Given the description of an element on the screen output the (x, y) to click on. 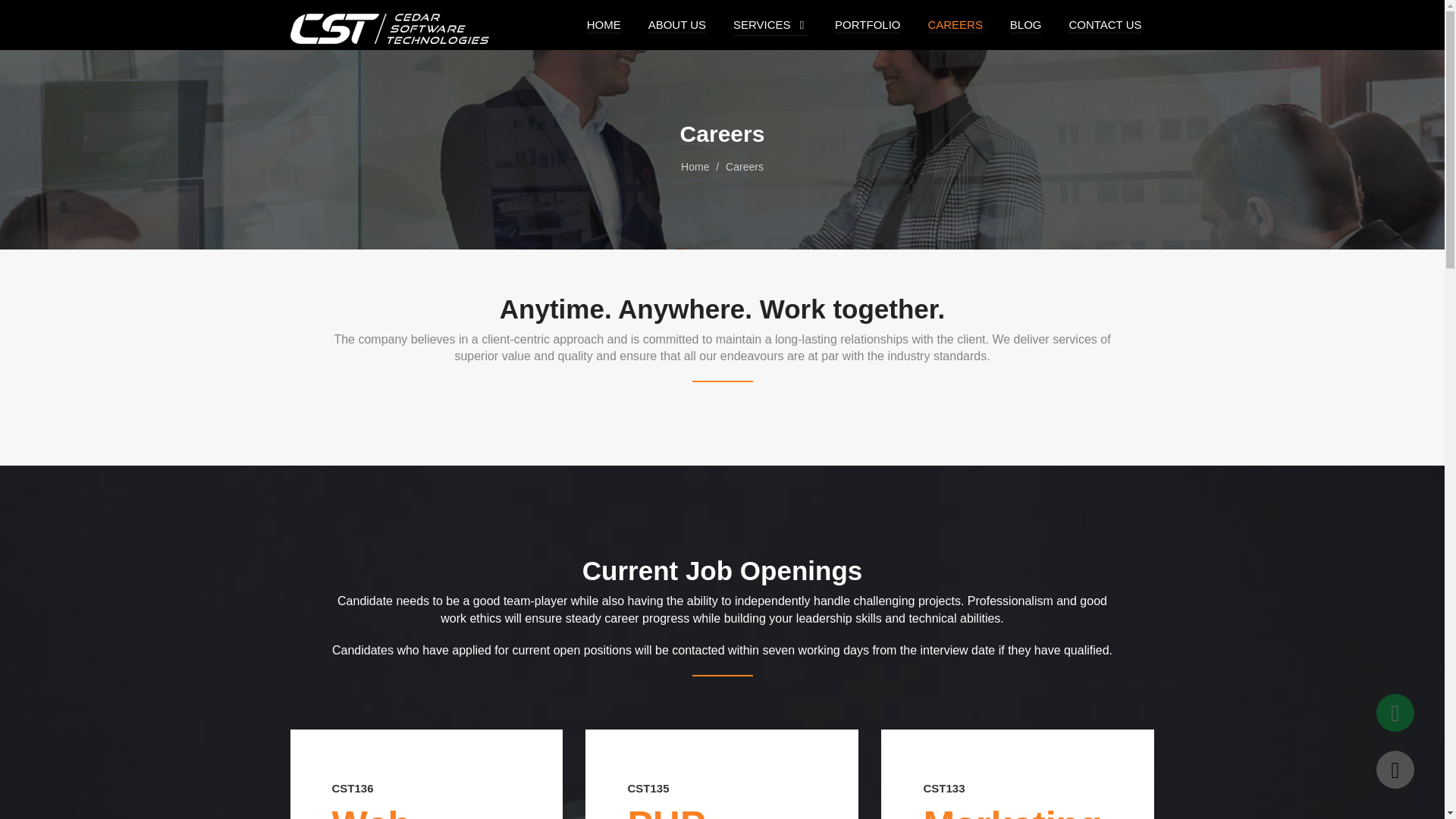
CONTACT US (1104, 24)
HOME (603, 24)
PORTFOLIO (866, 24)
call (1394, 769)
CAREERS (954, 24)
Home (695, 166)
whatsapp (1394, 712)
ABOUT US (676, 24)
SERVICES (761, 24)
BLOG (1026, 24)
